Given the description of an element on the screen output the (x, y) to click on. 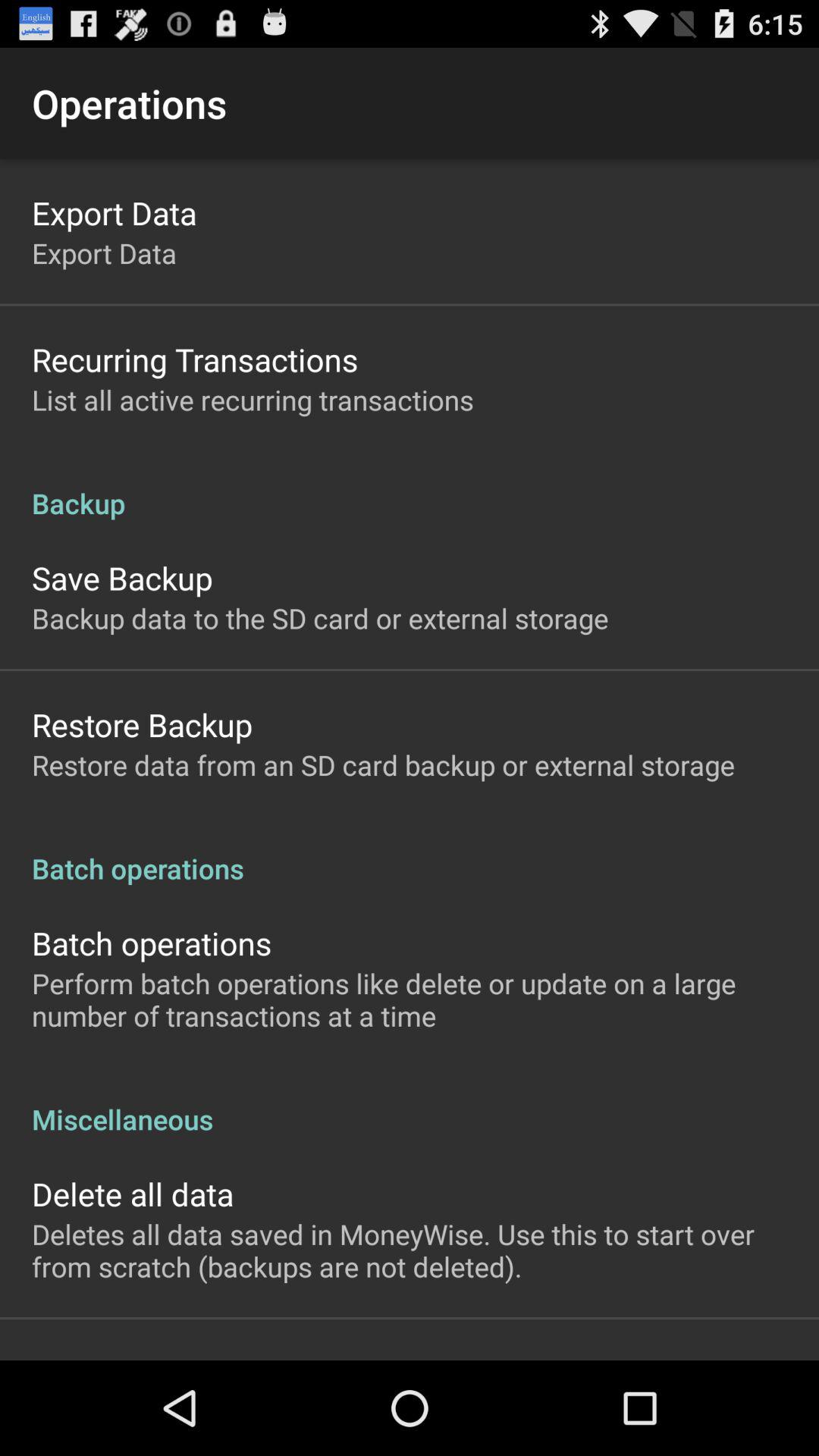
turn on miscellaneous icon (409, 1103)
